Given the description of an element on the screen output the (x, y) to click on. 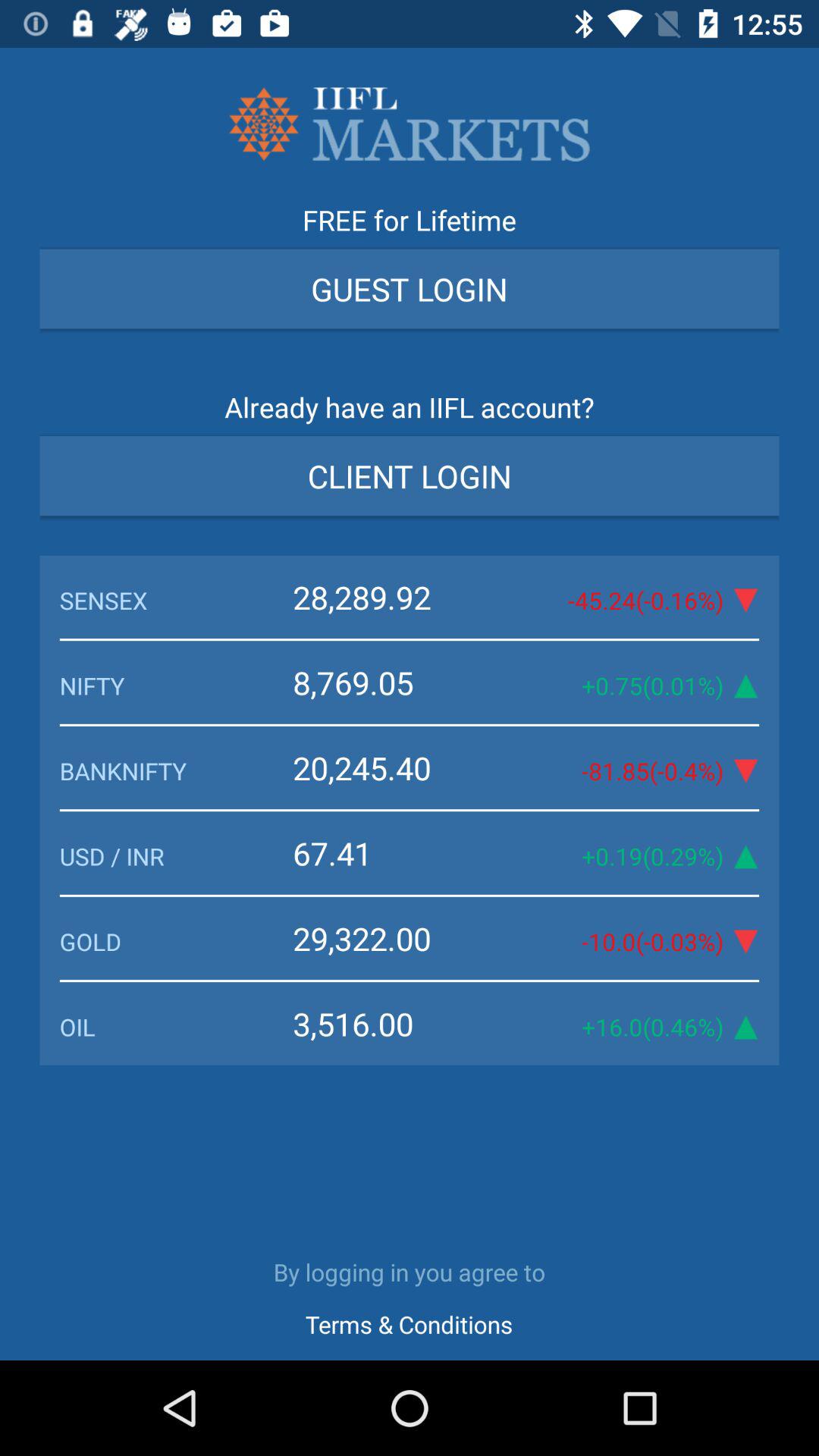
press icon below the 8,769.05 (397, 767)
